Given the description of an element on the screen output the (x, y) to click on. 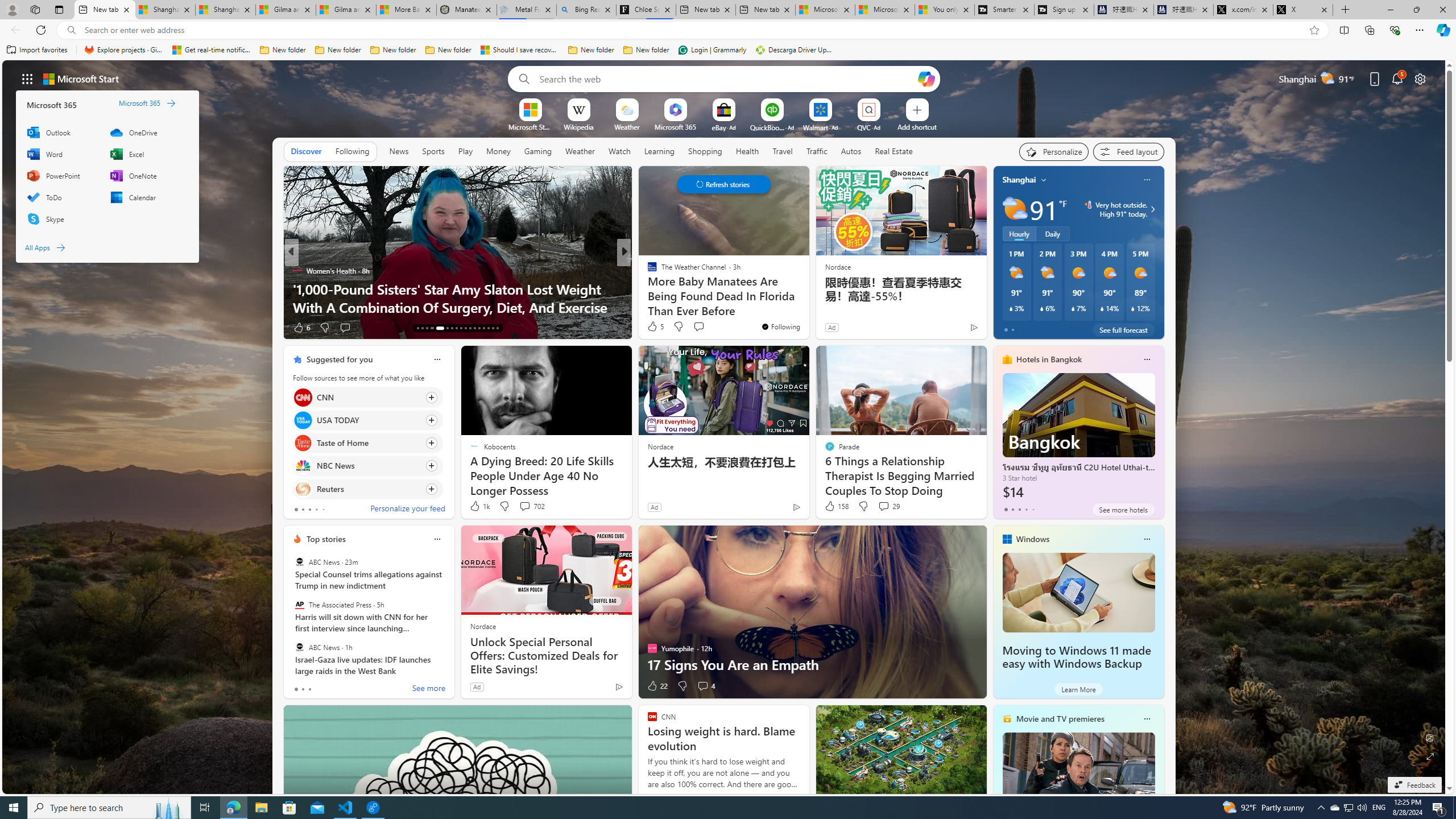
View comments 29 Comment (883, 505)
Partly sunny (1014, 208)
13 Things You Should Never Tolerate in Your Life (807, 307)
My location (1043, 179)
App launcher (27, 78)
BuzzFeed (647, 270)
View comments 1 Comment (702, 327)
